Given the description of an element on the screen output the (x, y) to click on. 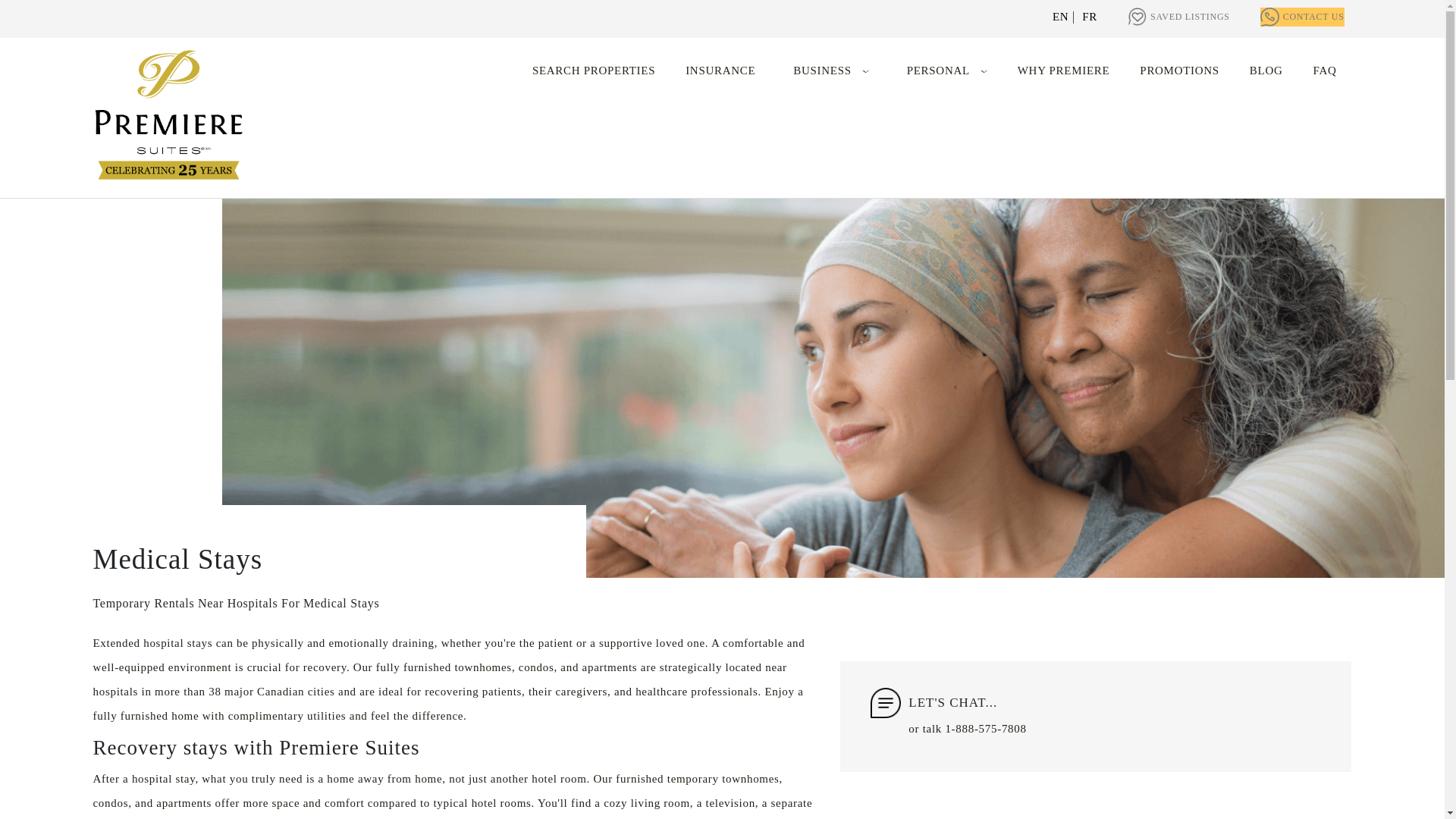
Search Properties (593, 70)
PROMOTIONS (1180, 70)
BLOG (1265, 70)
SEARCH PROPERTIES (593, 70)
WHY PREMIERE (1063, 70)
SAVED LISTINGS (1190, 16)
FR (1089, 16)
EN (1060, 16)
Contact Us (1312, 16)
INSURANCE (720, 70)
